Given the description of an element on the screen output the (x, y) to click on. 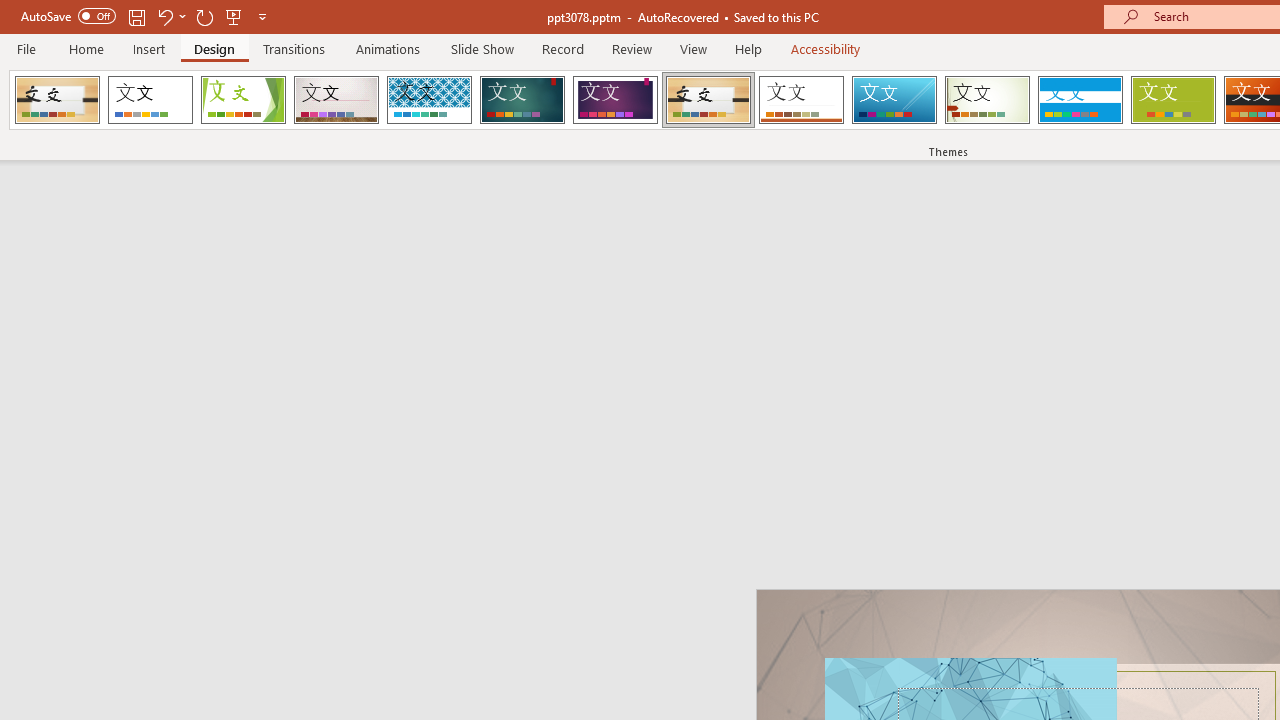
Integral (429, 100)
Retrospect (801, 100)
Wisp (987, 100)
